Given the description of an element on the screen output the (x, y) to click on. 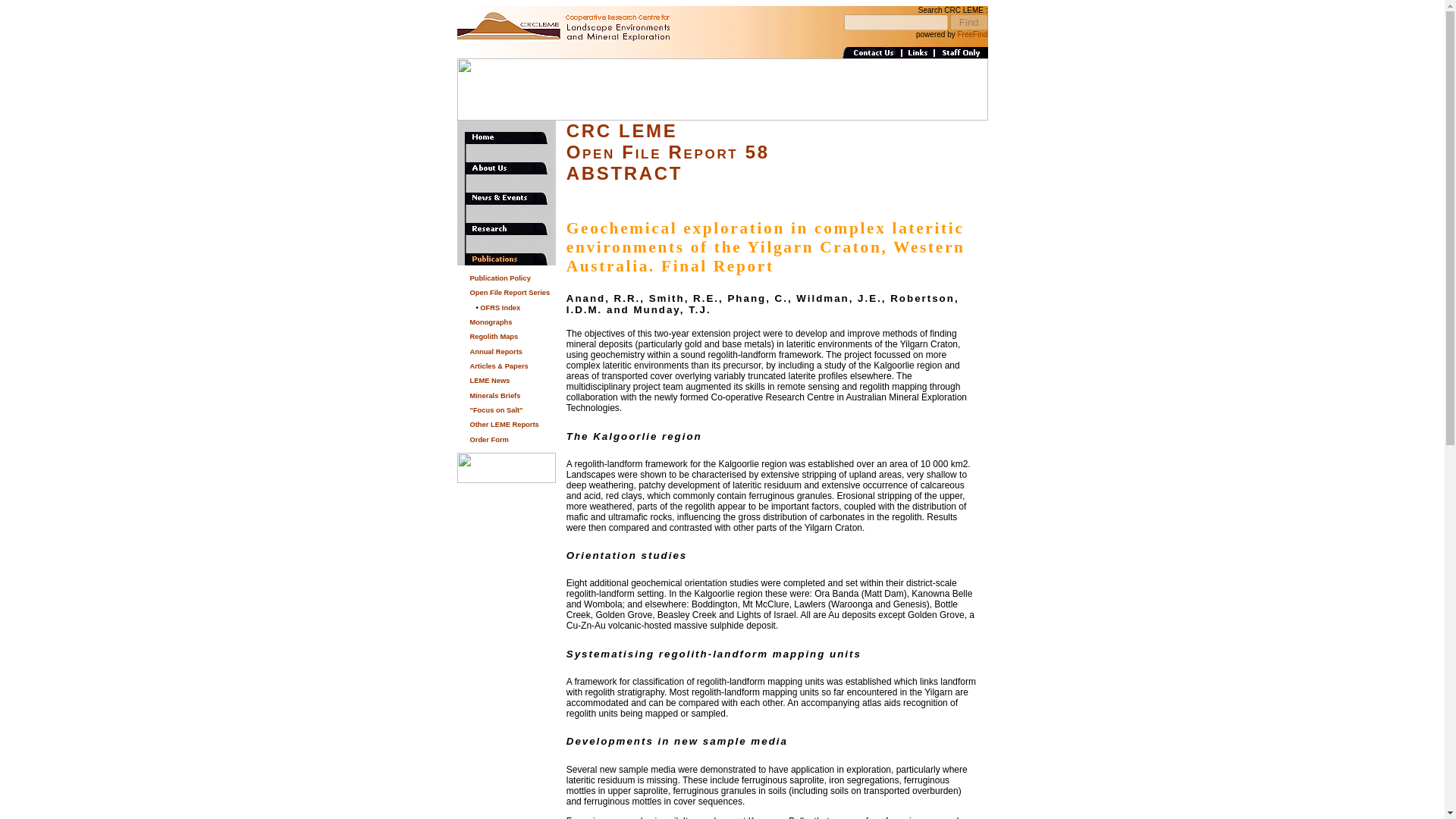
FreeFind (971, 34)
LEME News (490, 380)
Minerals Briefs (495, 395)
 Find  (968, 22)
OFRS Index (499, 307)
Monographs (491, 321)
Order Form (489, 439)
Regolith Maps (494, 336)
Other LEME Reports (504, 424)
Publication Policy (500, 277)
Open File Report Series (510, 292)
"Focus on Salt" (496, 410)
Annual Reports (496, 351)
